Given the description of an element on the screen output the (x, y) to click on. 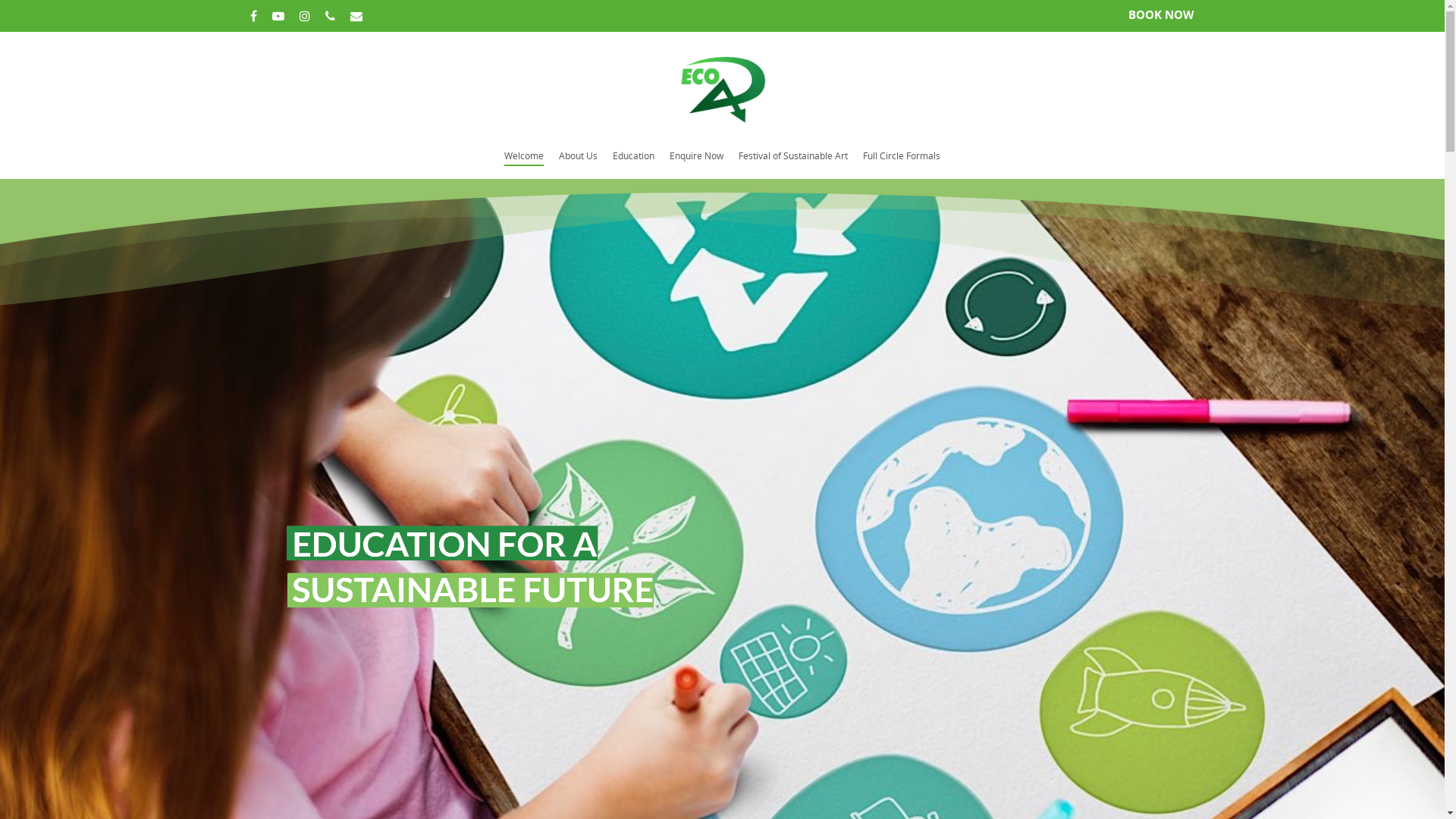
Enquire Now Element type: text (696, 163)
About Us Element type: text (577, 163)
Education Element type: text (633, 163)
BOOK NOW Element type: text (1161, 14)
Festival of Sustainable Art Element type: text (792, 163)
Full Circle Formals Element type: text (901, 163)
Welcome Element type: text (523, 163)
